Given the description of an element on the screen output the (x, y) to click on. 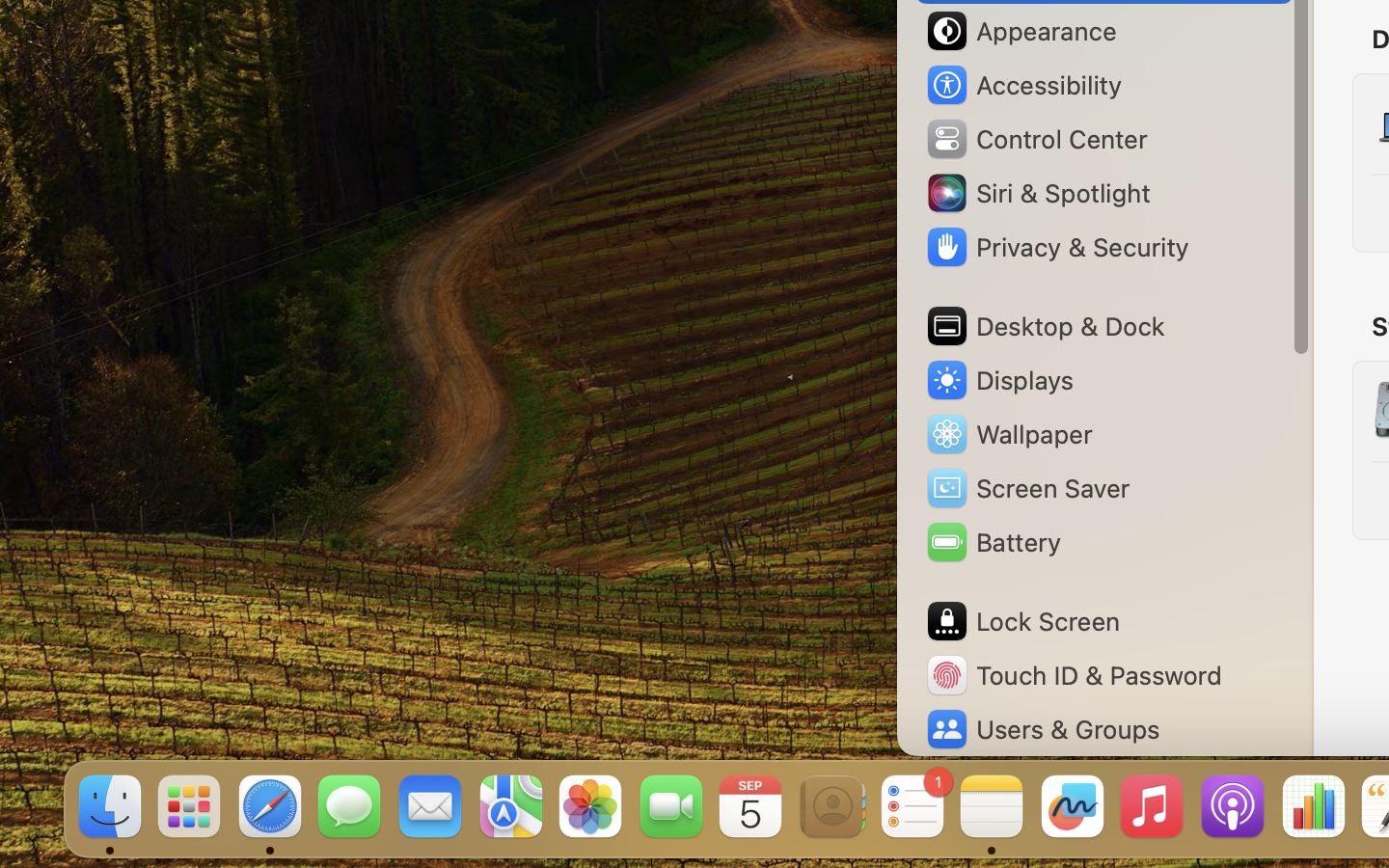
Battery Element type: AXStaticText (992, 541)
Privacy & Security Element type: AXStaticText (1056, 246)
Lock Screen Element type: AXStaticText (1022, 620)
Appearance Element type: AXStaticText (1020, 30)
Desktop & Dock Element type: AXStaticText (1044, 325)
